Given the description of an element on the screen output the (x, y) to click on. 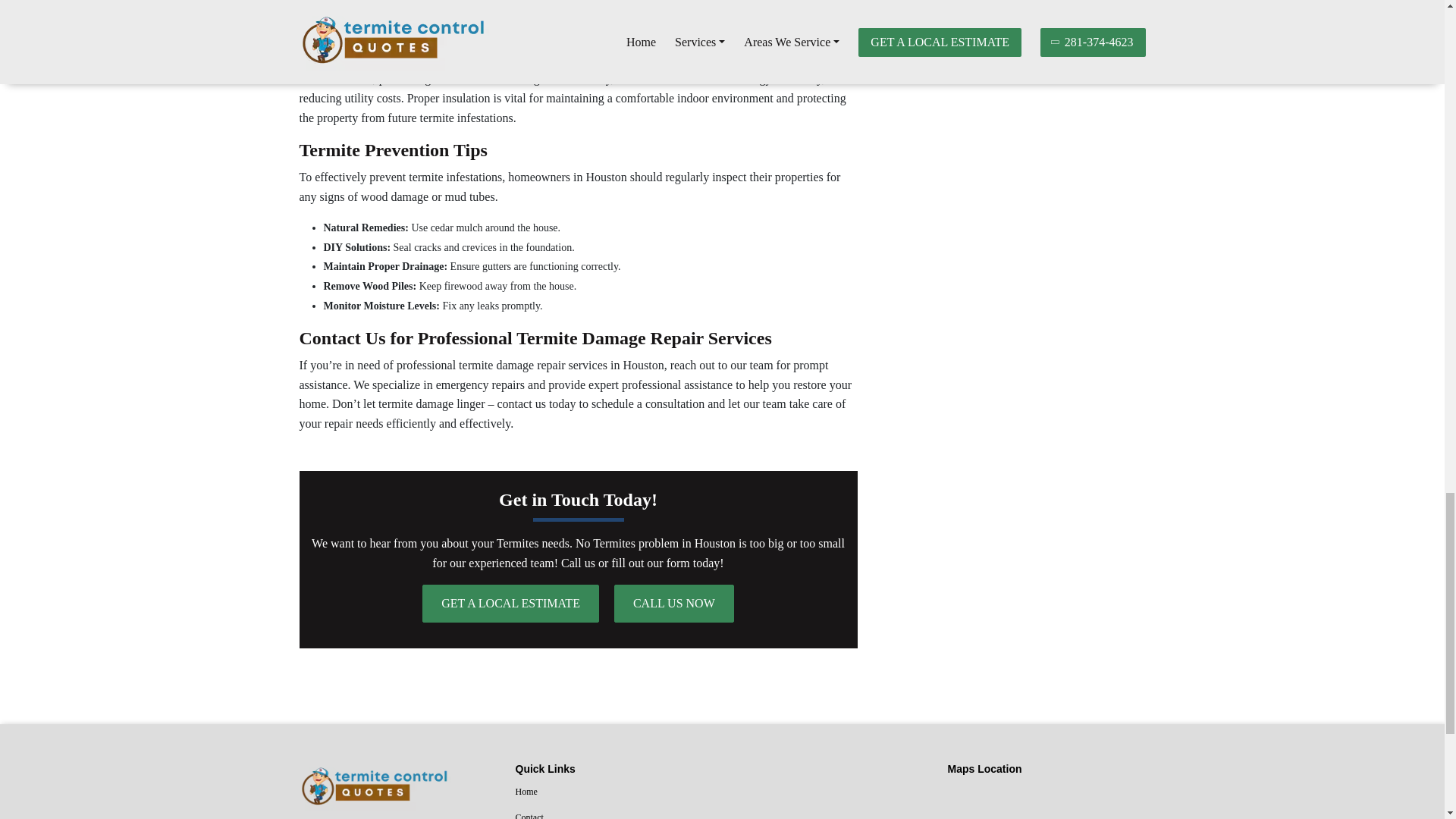
CALL US NOW (673, 603)
GET A LOCAL ESTIMATE (510, 603)
Contact (614, 813)
Home (614, 792)
